Given the description of an element on the screen output the (x, y) to click on. 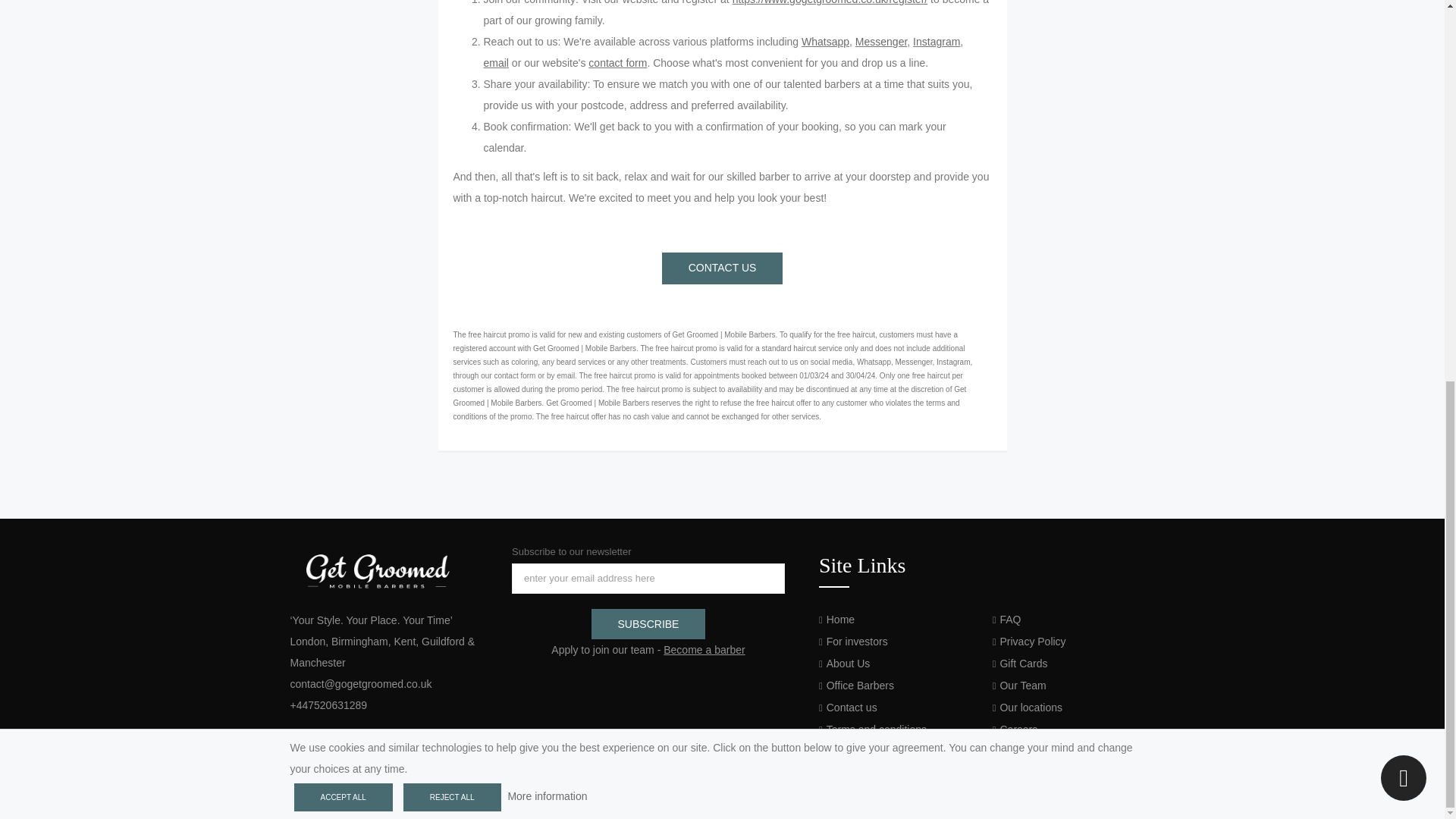
ACCEPT ALL (343, 85)
More information (546, 83)
Register (830, 2)
Join us (703, 649)
REJECT ALL (451, 85)
Instagram (354, 796)
Facebook (310, 796)
Pinterest (375, 796)
Contact us (722, 268)
LinkedIn (332, 796)
